Given the description of an element on the screen output the (x, y) to click on. 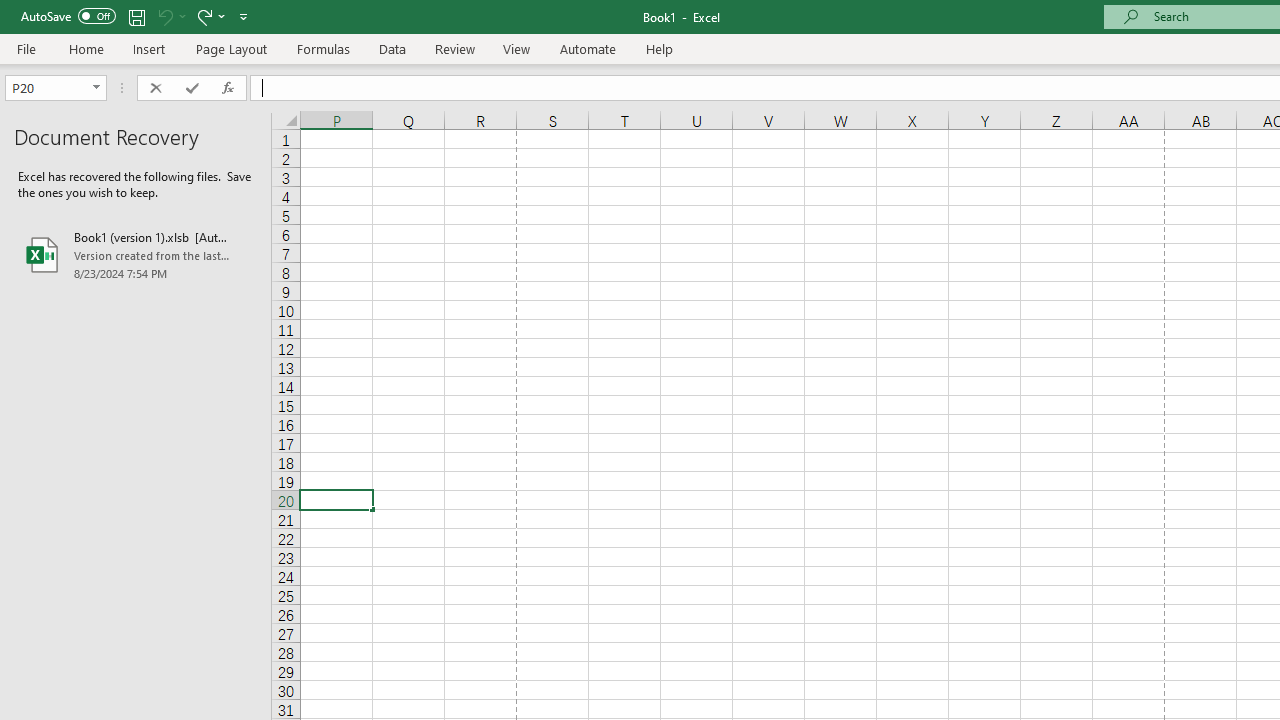
Book1 (version 1).xlsb  [AutoRecovered] (136, 254)
